Given the description of an element on the screen output the (x, y) to click on. 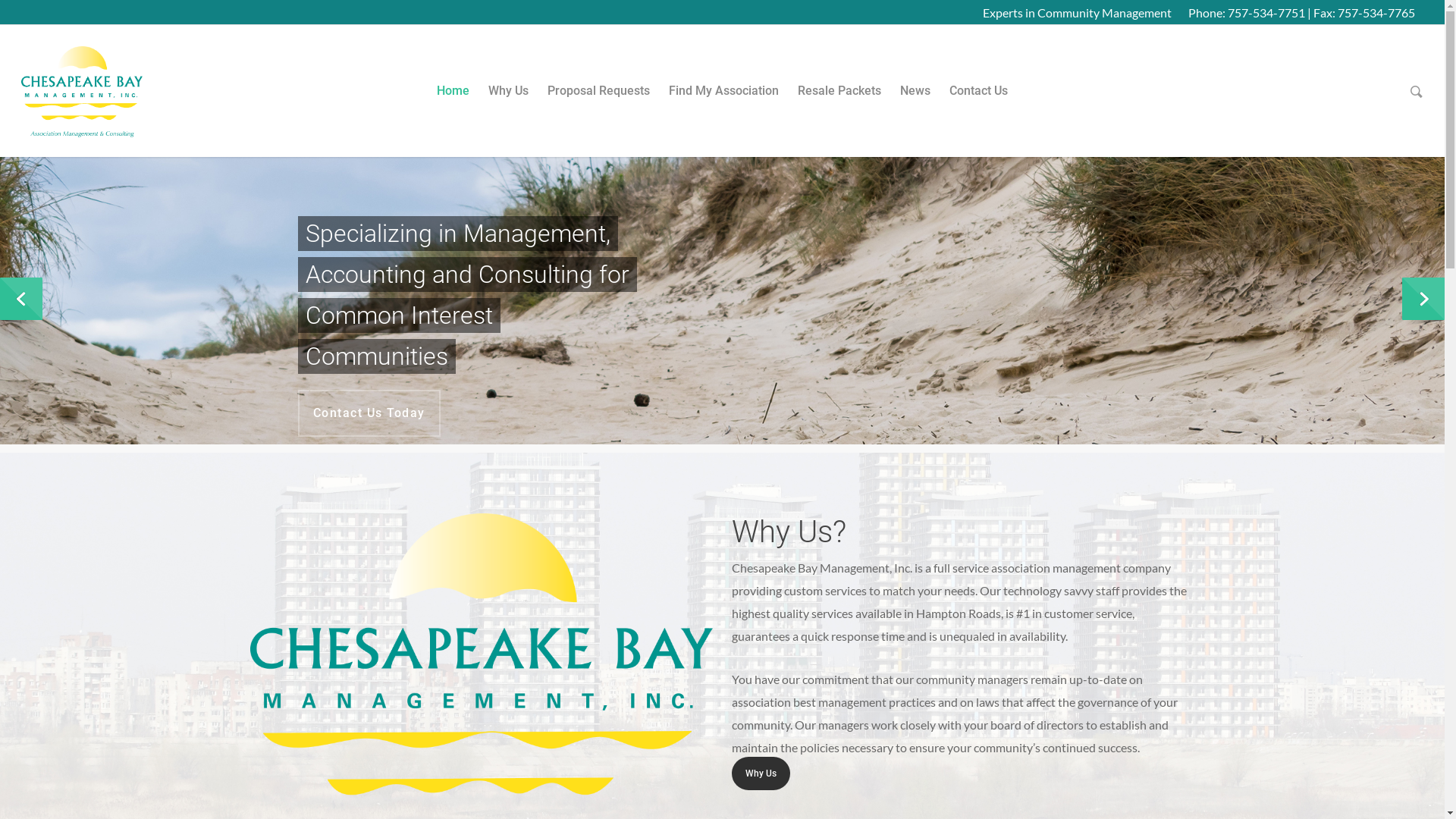
Home Element type: text (452, 101)
Contact Us Today Element type: text (368, 412)
Proposal Requests Element type: text (598, 101)
News Element type: text (915, 101)
Resale Packets Element type: text (839, 101)
Experts in Community Management Element type: text (1077, 12)
Why Us Element type: text (508, 101)
Why Us Element type: text (760, 773)
Phone: 757-534-7751 | Fax: 757-534-7765 Element type: text (1301, 12)
Contact Us Element type: text (978, 101)
Find My Association Element type: text (723, 101)
